Given the description of an element on the screen output the (x, y) to click on. 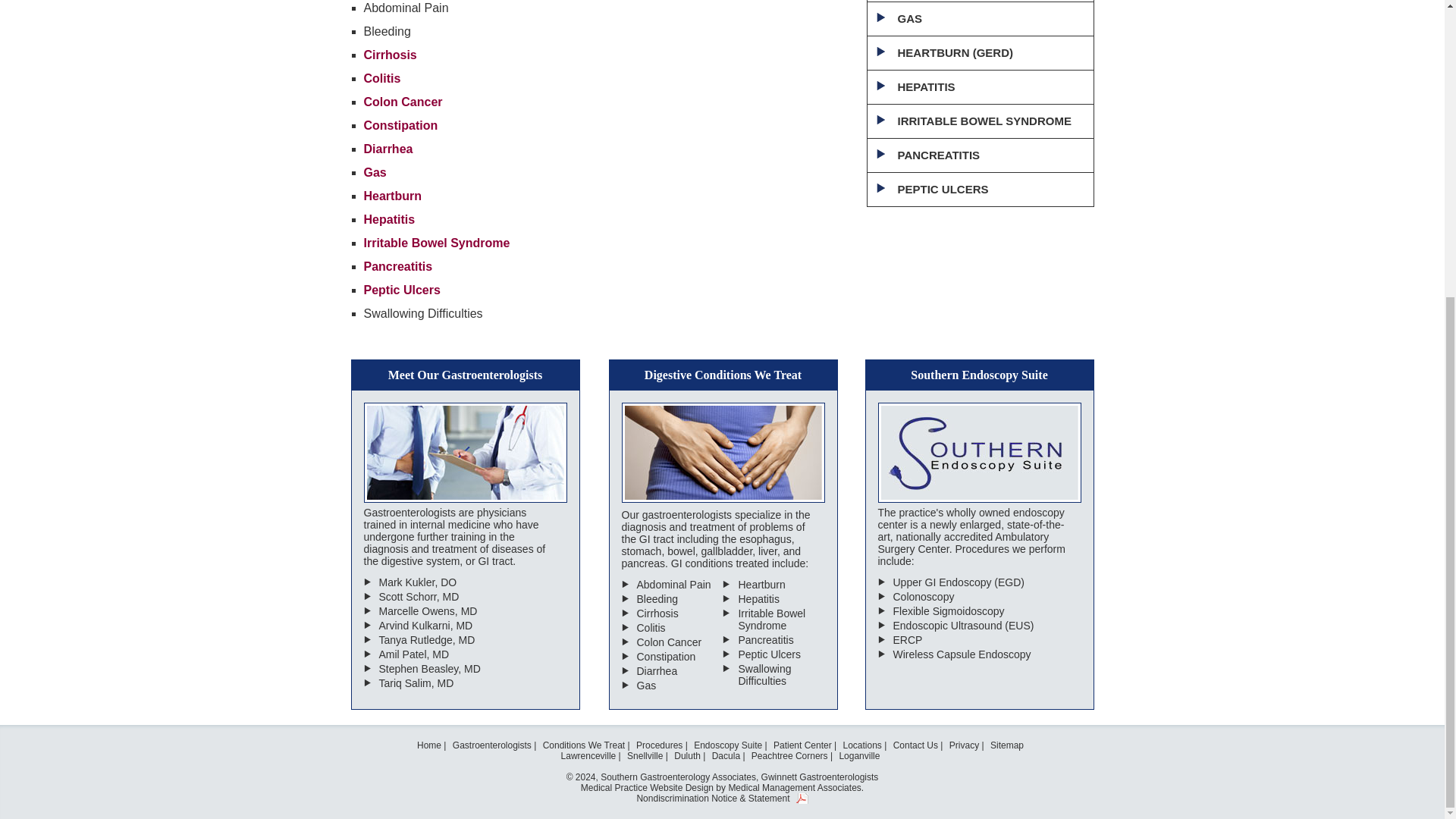
Gas (375, 172)
Heartburn (393, 195)
Colitis (382, 78)
Pancreatitis (398, 266)
Colon Cancer (403, 101)
Cirrhosis (390, 54)
PANCREATITIS (980, 155)
Diarrhea (388, 148)
PEPTIC ULCERS (980, 189)
HEPATITIS (980, 87)
Hepatitis (389, 219)
Irritable Bowel Syndrome (437, 242)
